Given the description of an element on the screen output the (x, y) to click on. 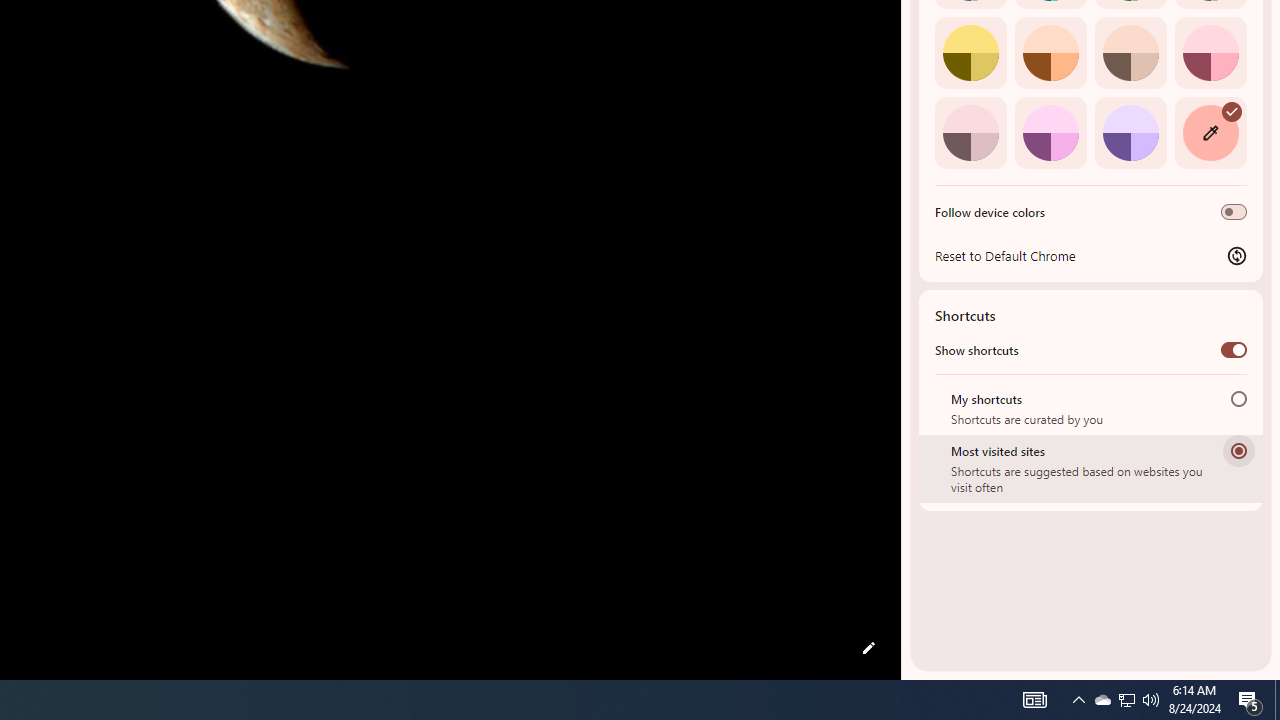
Show shortcuts (1233, 349)
Custom color (1210, 132)
